Given the description of an element on the screen output the (x, y) to click on. 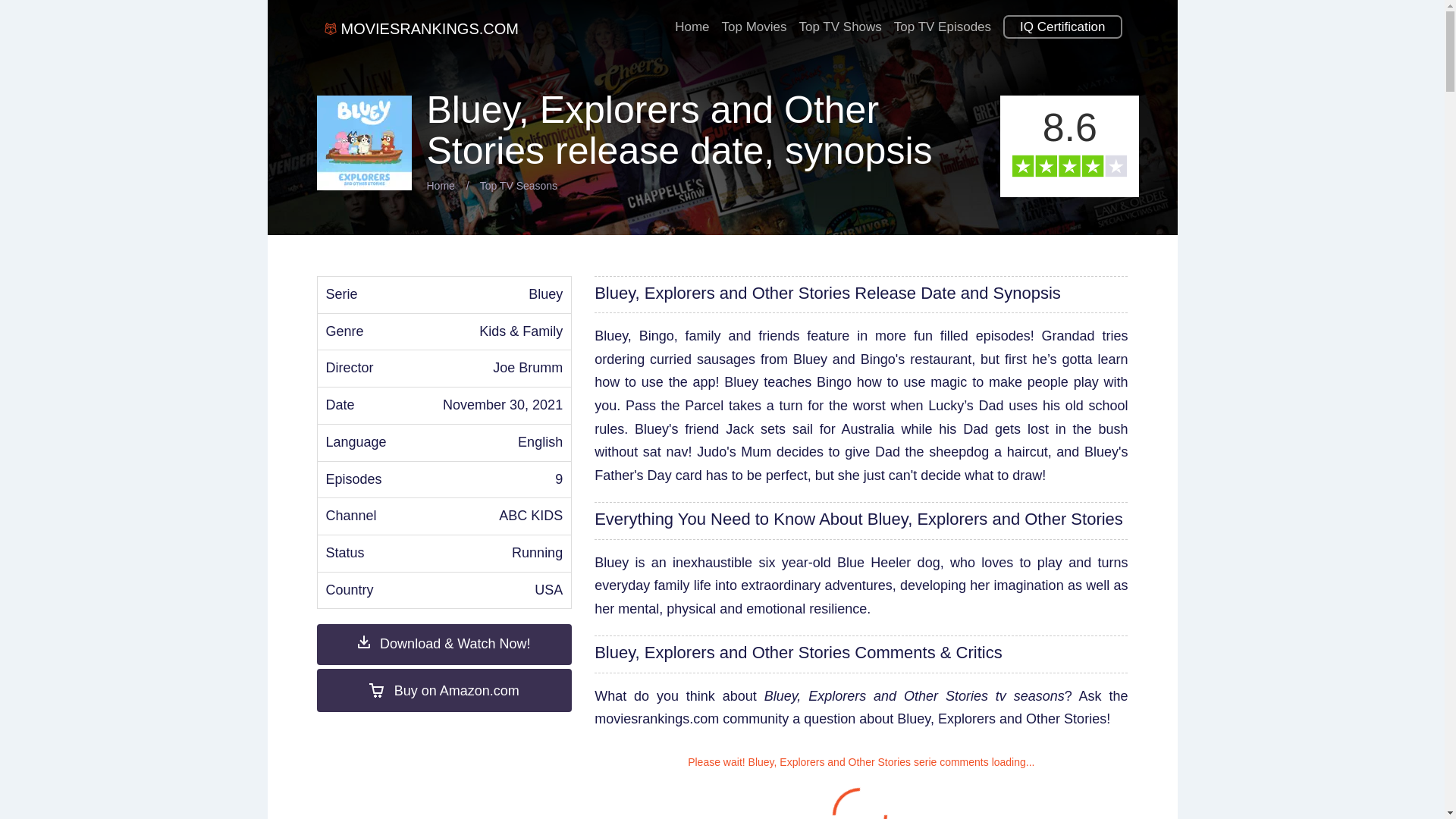
Top Movies (754, 20)
MOVIESRANKINGS.COM (430, 28)
Home (440, 185)
Home (691, 20)
IQ Certification (1061, 20)
IQ Test Certification (1061, 20)
Watch Bluey, Explorers and Other Stories Full HD (444, 644)
Top TV Seasons (518, 185)
Top TV Shows (840, 20)
Buy Bluey, Explorers and Other Stories on Amazon.com (444, 690)
Top TV Episodes (942, 20)
Buy on Amazon.com (444, 690)
